Given the description of an element on the screen output the (x, y) to click on. 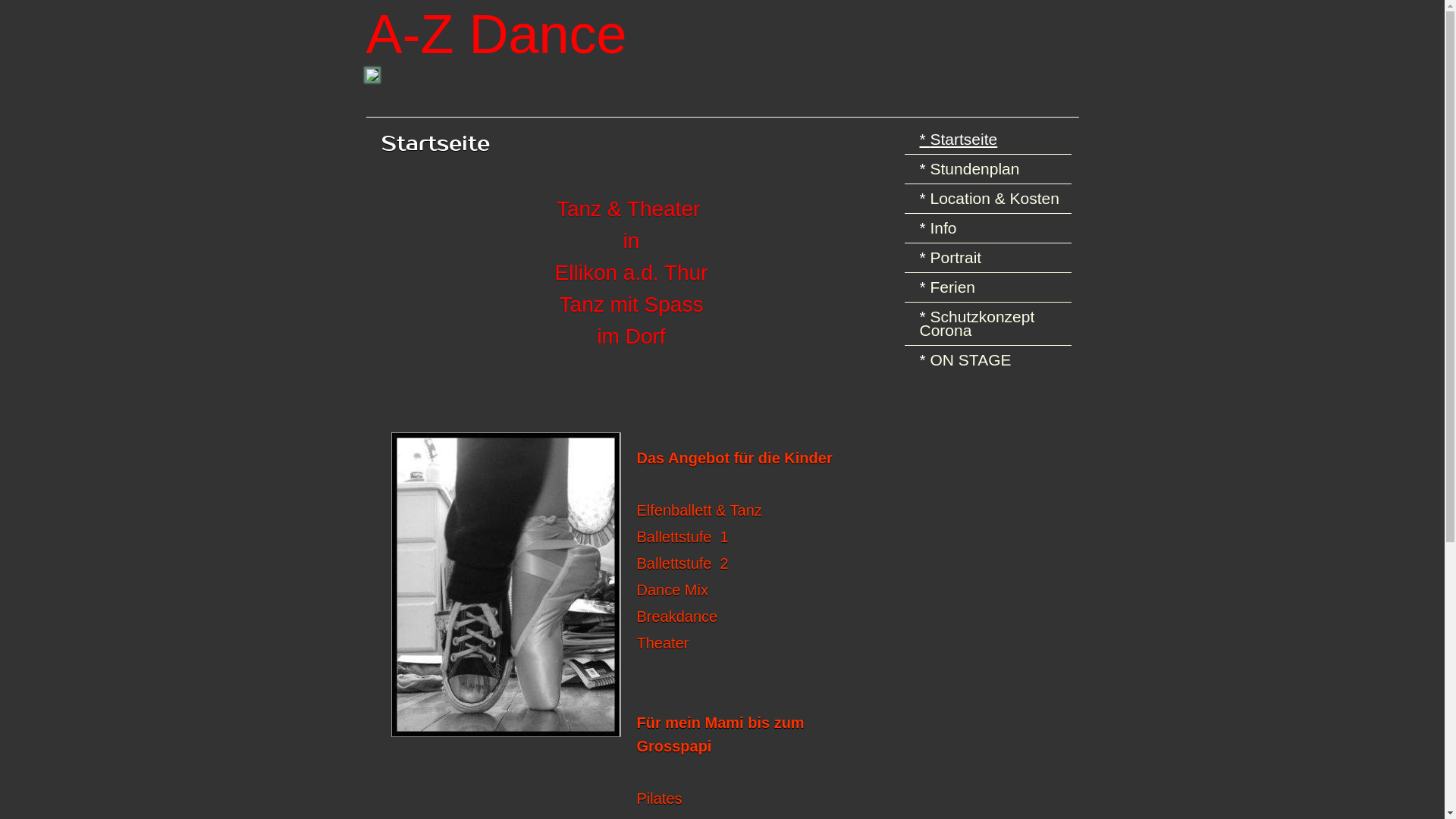
Ferien Element type: text (991, 287)
A-Z Dance  Element type: text (721, 38)
Schutzkonzept Corona Element type: text (991, 323)
Info Element type: text (991, 228)
Portrait Element type: text (991, 257)
ON STAGE Element type: text (991, 360)
Stundenplan Element type: text (991, 168)
Startseite Element type: text (991, 139)
Location & Kosten Element type: text (991, 198)
